Given the description of an element on the screen output the (x, y) to click on. 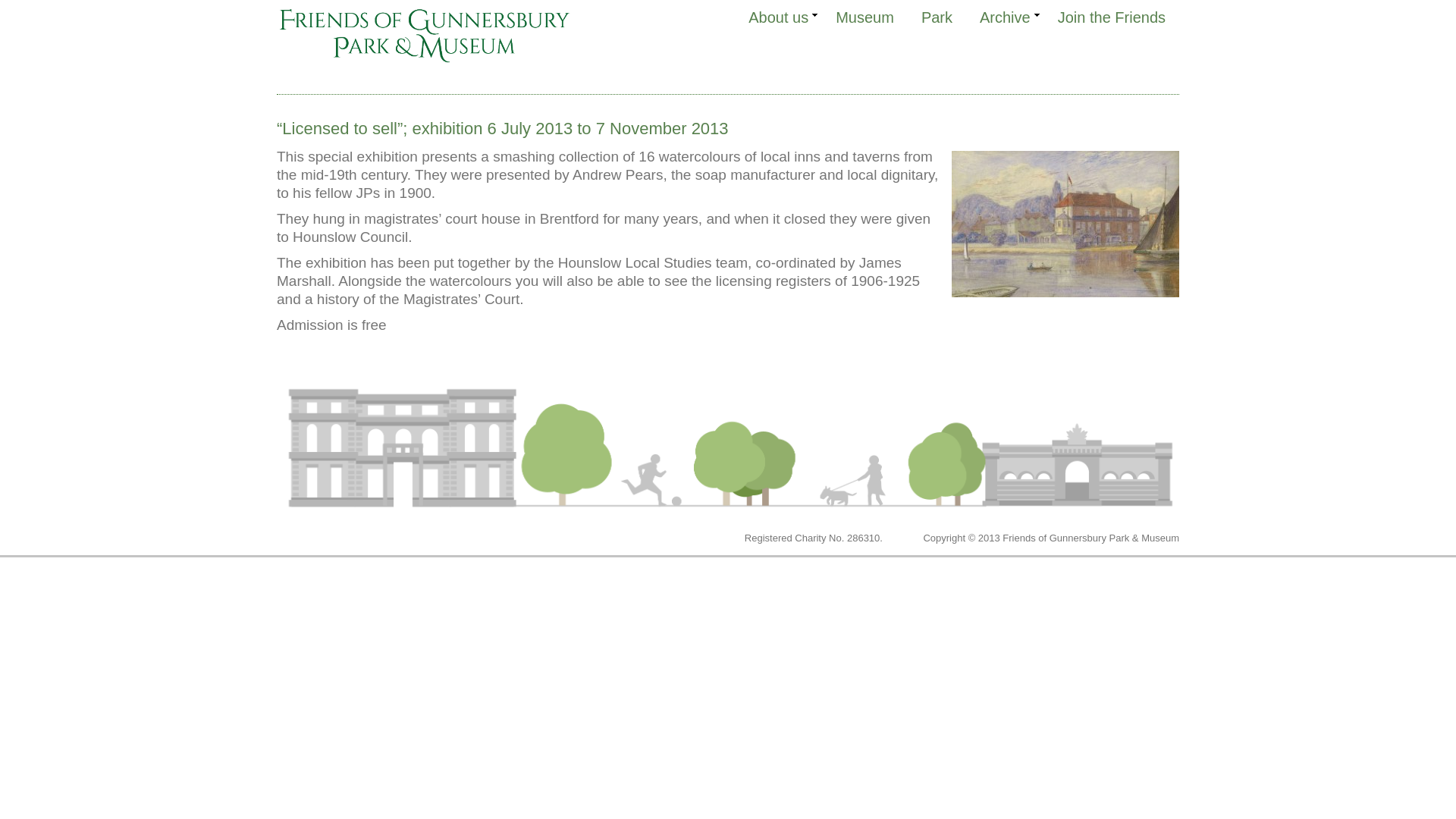
Join the Friends (1111, 17)
About us (778, 17)
Archive (1004, 17)
Park (936, 17)
Museum (864, 17)
